Given the description of an element on the screen output the (x, y) to click on. 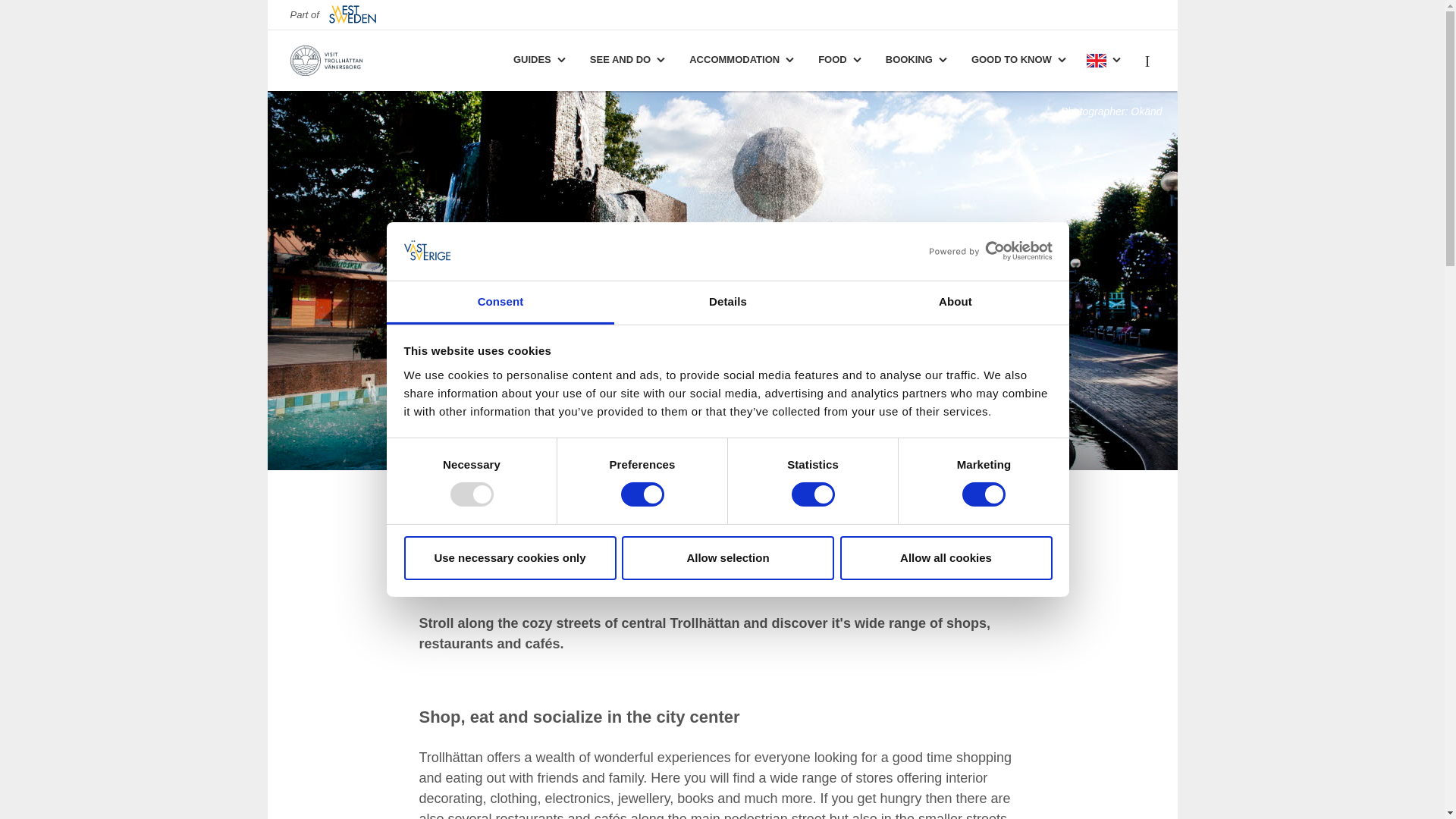
Details (727, 302)
Consent (500, 302)
About (954, 302)
